Given the description of an element on the screen output the (x, y) to click on. 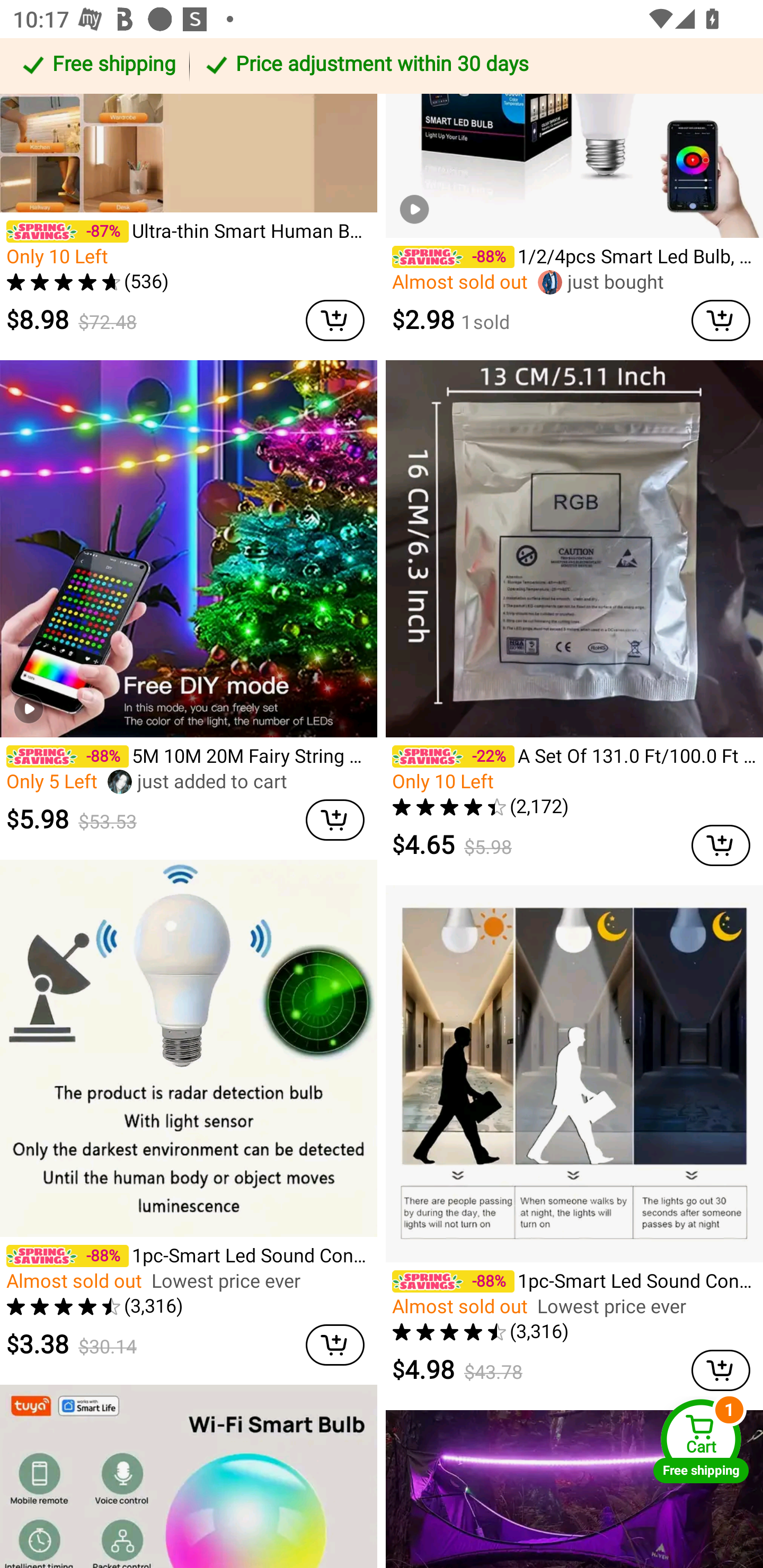
Free shipping (97, 65)
Price adjustment within 30 days (472, 65)
cart delete (334, 320)
cart delete (720, 320)
cart delete (334, 819)
cart delete (720, 844)
cart delete (334, 1344)
cart delete (720, 1370)
Cart Free shipping Cart (701, 1440)
